Given the description of an element on the screen output the (x, y) to click on. 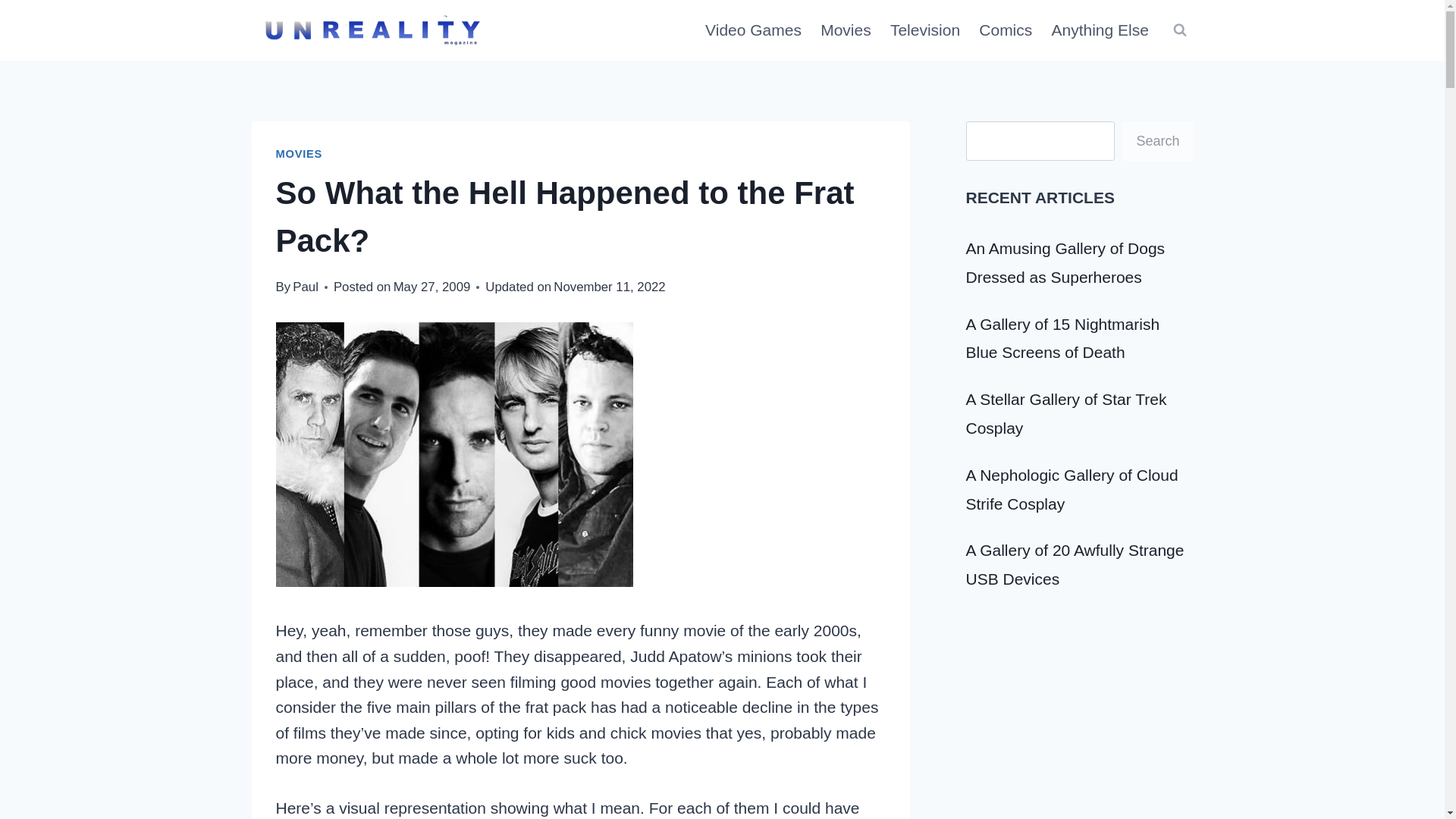
Comics (1005, 30)
Television (924, 30)
MOVIES (299, 153)
Video Games (752, 30)
Movies (845, 30)
Anything Else (1100, 30)
Paul (305, 287)
